Given the description of an element on the screen output the (x, y) to click on. 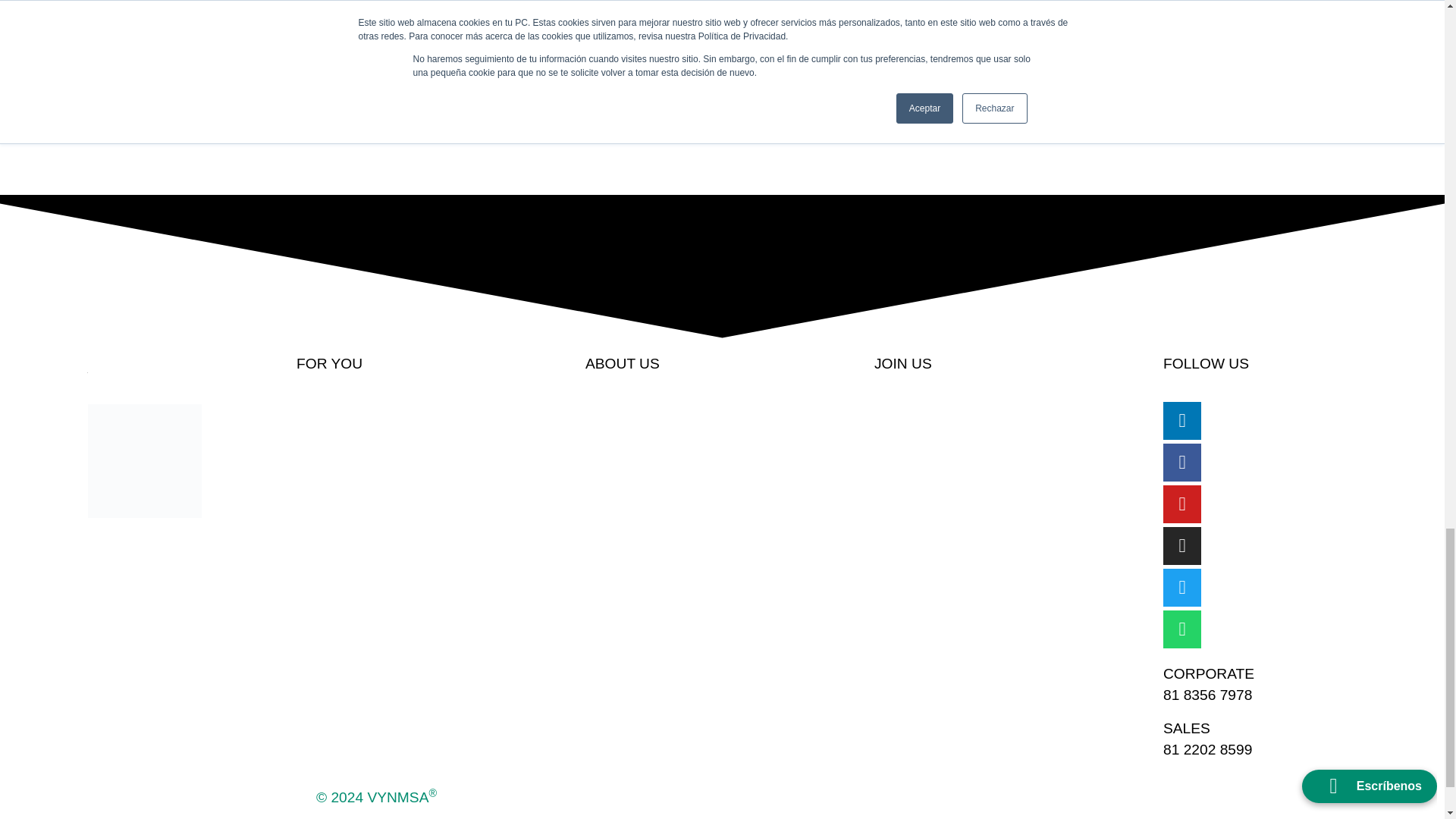
Form 0 (938, 97)
WeChat-VYNMSA (144, 460)
